Given the description of an element on the screen output the (x, y) to click on. 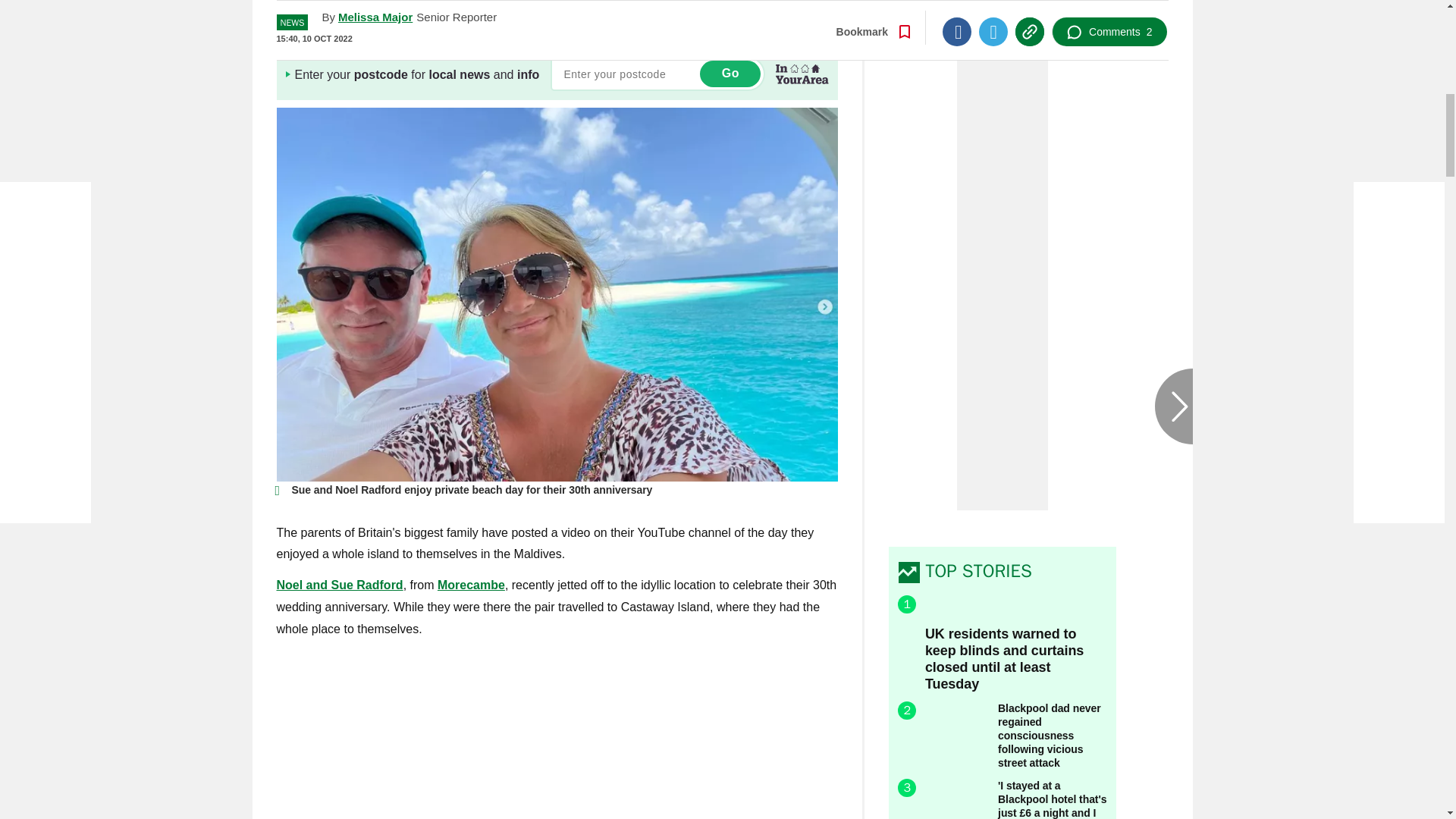
Twitter (992, 7)
Facebook (956, 7)
Go (730, 73)
Comments (1108, 7)
